Given the description of an element on the screen output the (x, y) to click on. 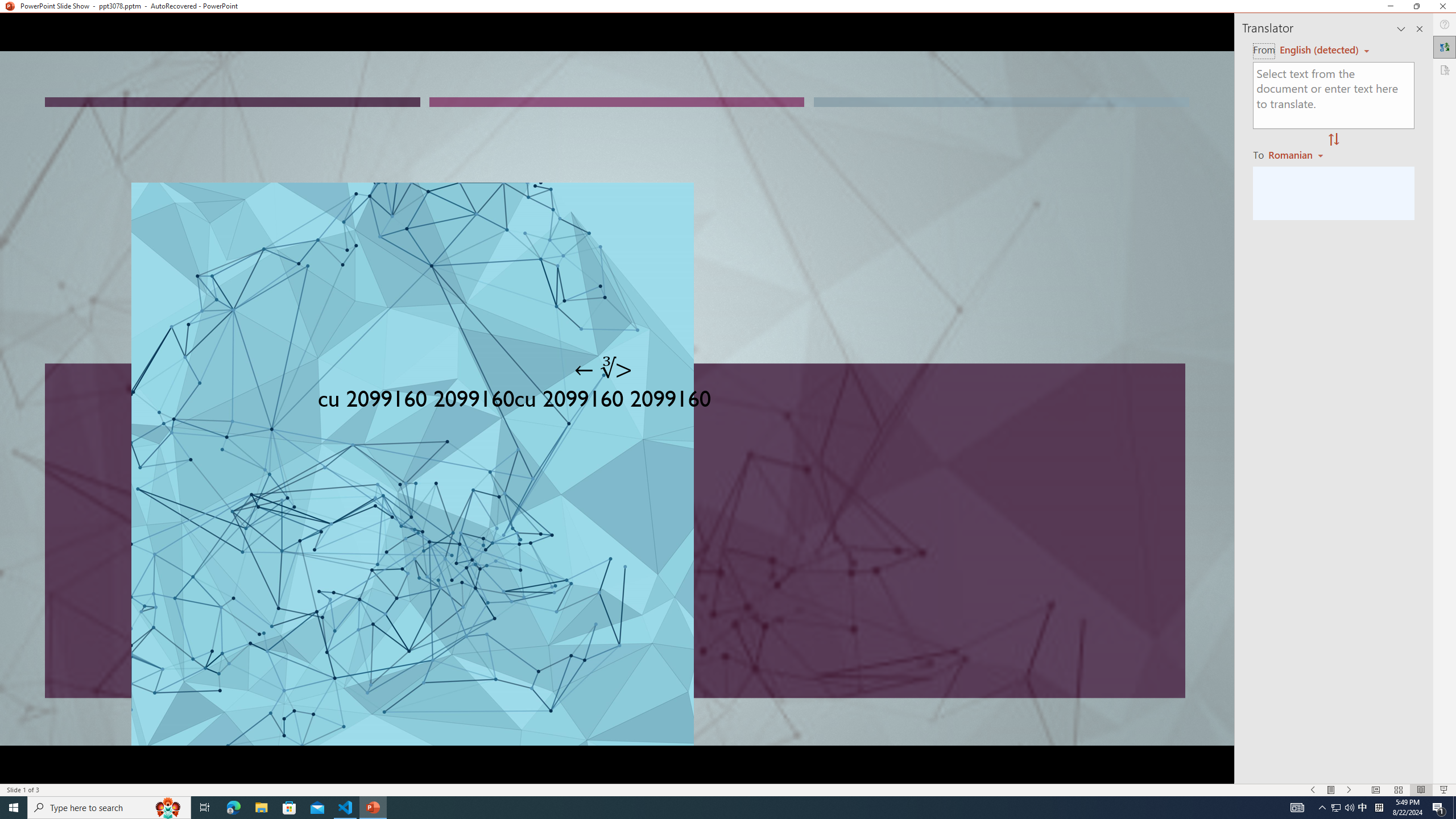
Czech (detected) (1319, 50)
Menu On (1331, 790)
Romanian (1296, 154)
